Given the description of an element on the screen output the (x, y) to click on. 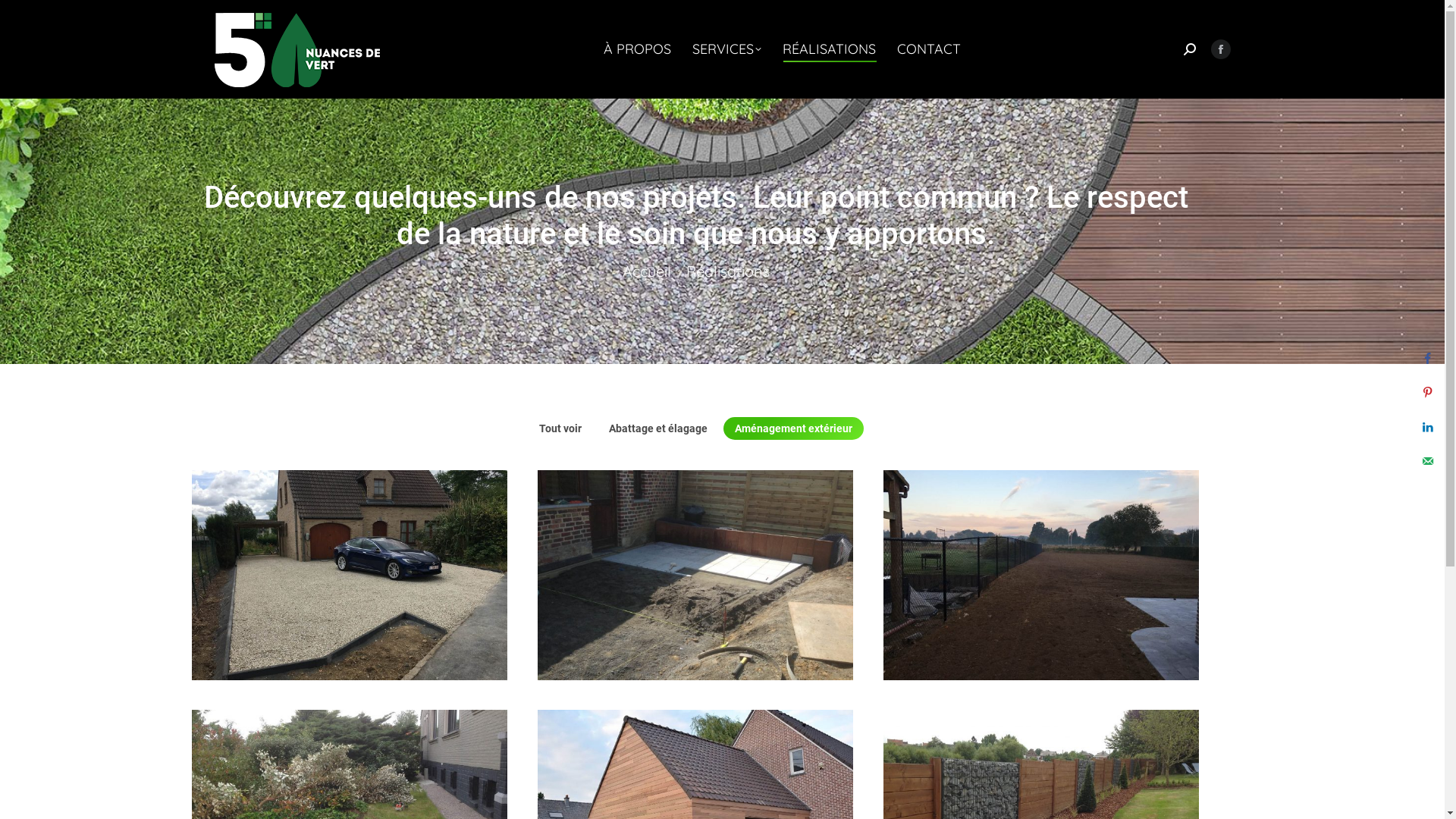
Accueil Element type: text (645, 270)
SERVICES Element type: text (725, 48)
Facebook page opens in new window Element type: text (1220, 49)
CONTACT Element type: text (928, 48)
Tout voir Element type: text (560, 428)
Go! Element type: text (22, 15)
